Given the description of an element on the screen output the (x, y) to click on. 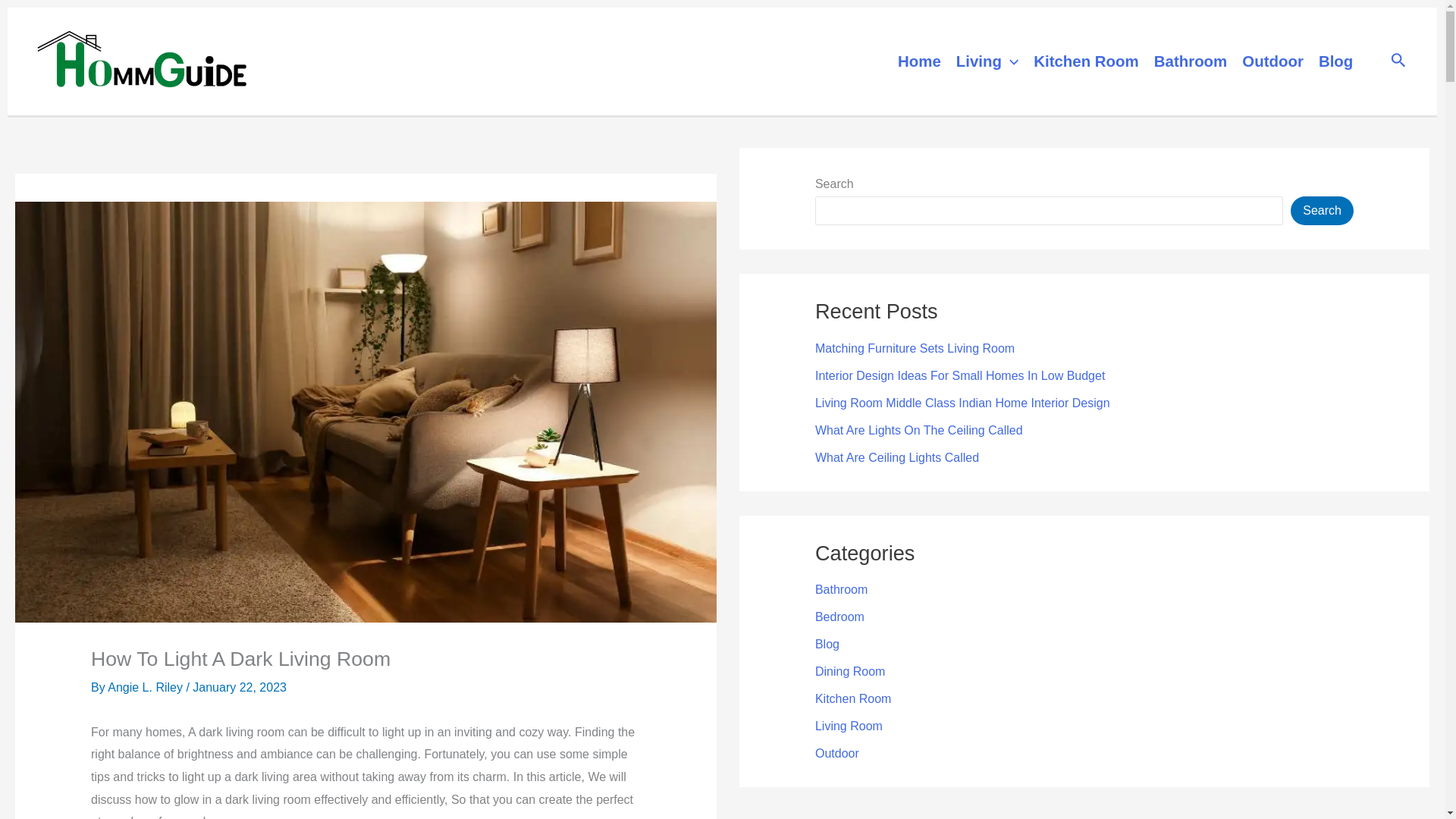
What Are Ceiling Lights Called (896, 457)
Outdoor (1272, 60)
Living Room (848, 725)
Bedroom (839, 616)
Search (1322, 210)
Dining Room (850, 671)
Living (987, 60)
Blog (827, 644)
Search (1398, 61)
Bathroom (1190, 60)
Bathroom (841, 589)
Outdoor (837, 753)
Angie L. Riley (146, 686)
